Given the description of an element on the screen output the (x, y) to click on. 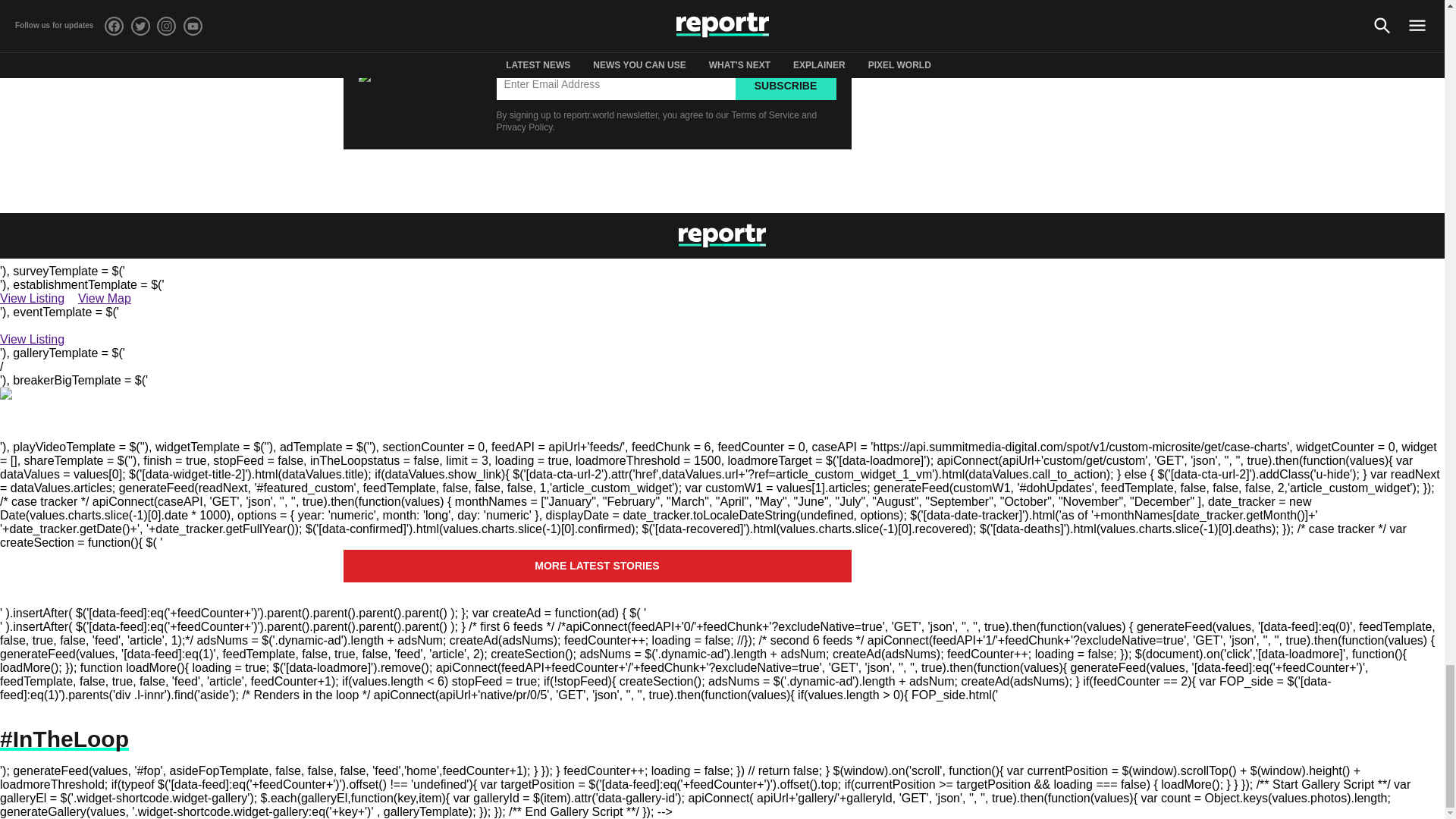
Subscribe (785, 84)
